Given the description of an element on the screen output the (x, y) to click on. 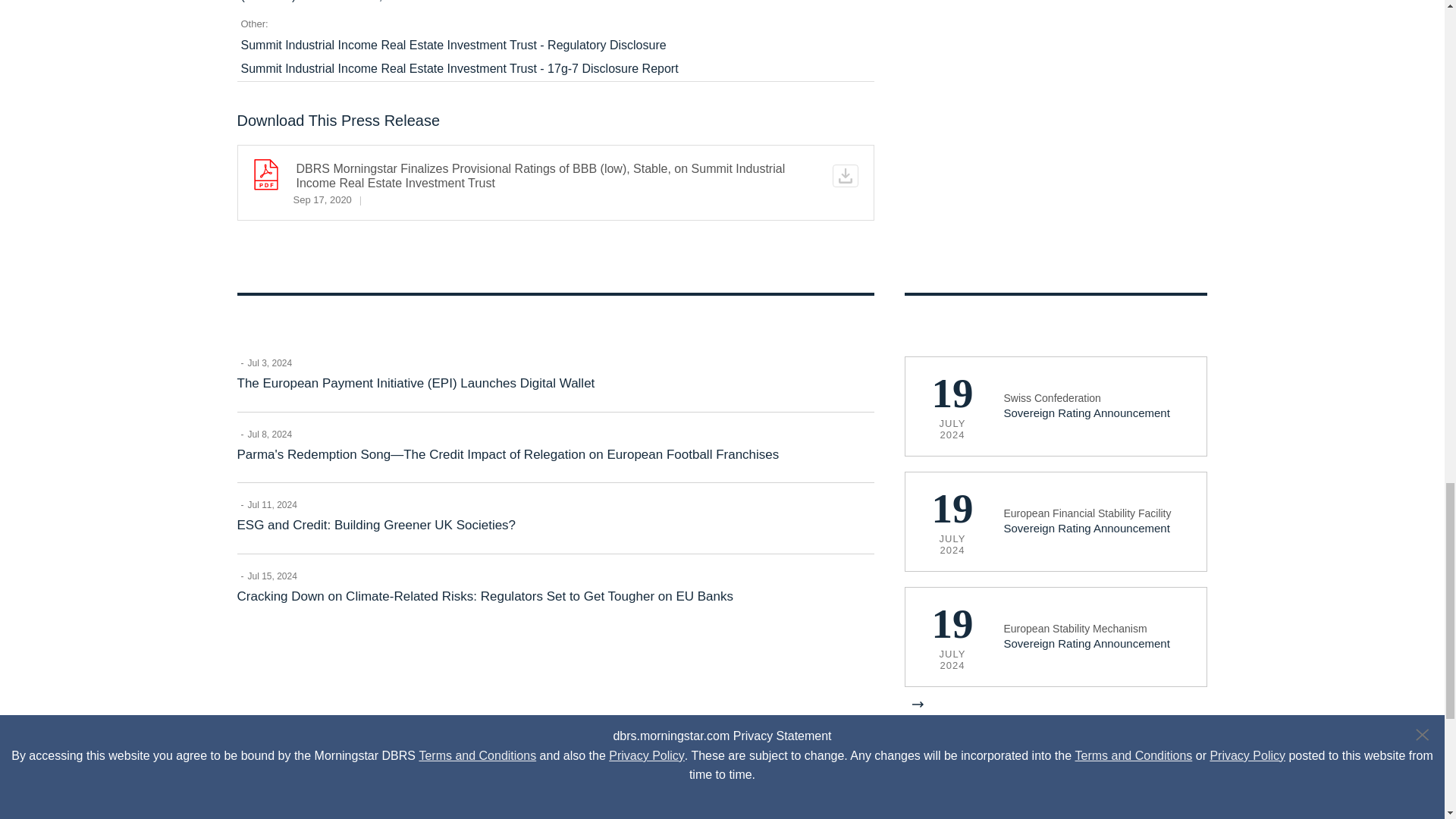
Related Events (1055, 506)
